Given the description of an element on the screen output the (x, y) to click on. 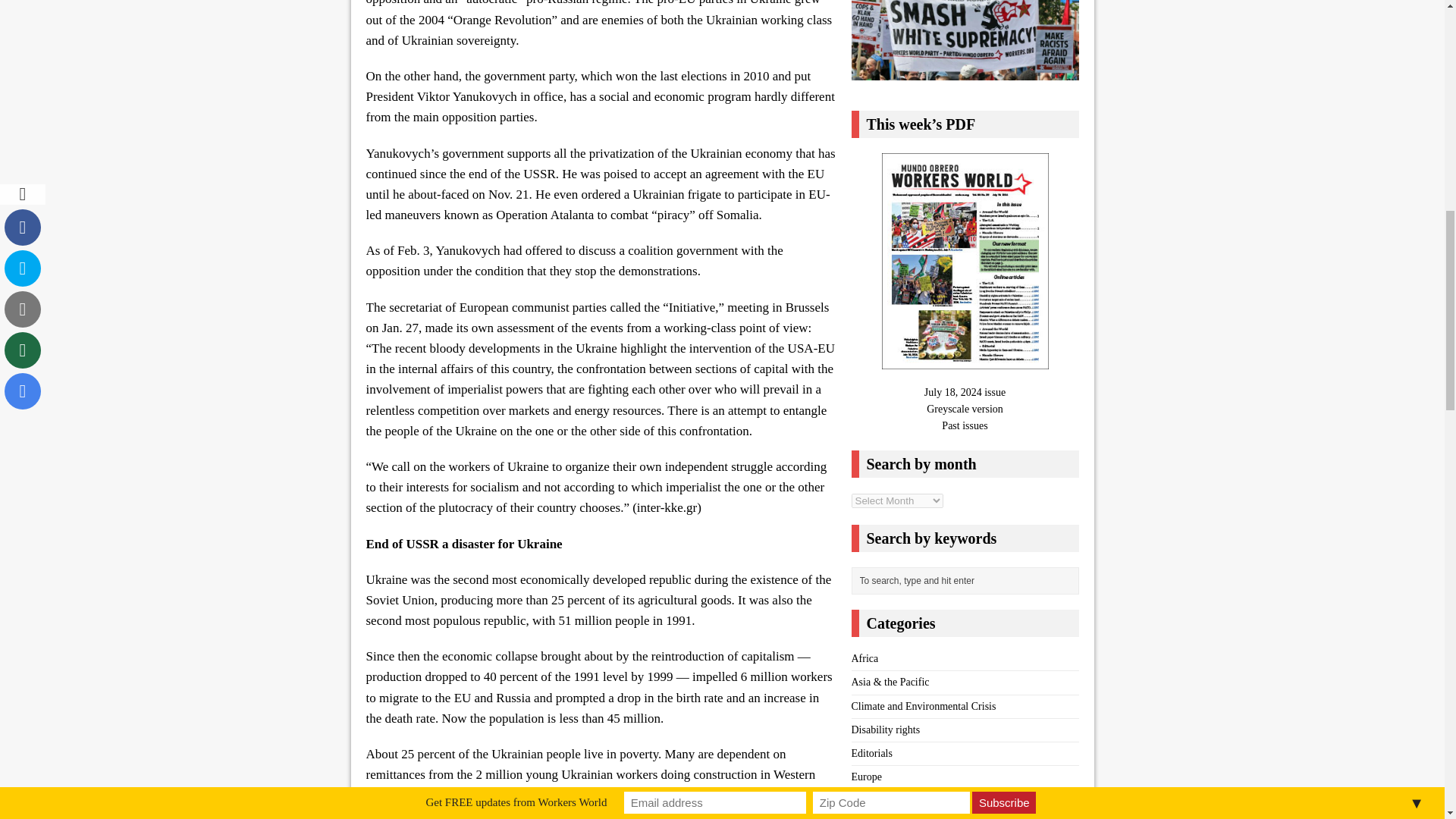
To search, type and hit enter (968, 580)
